Given the description of an element on the screen output the (x, y) to click on. 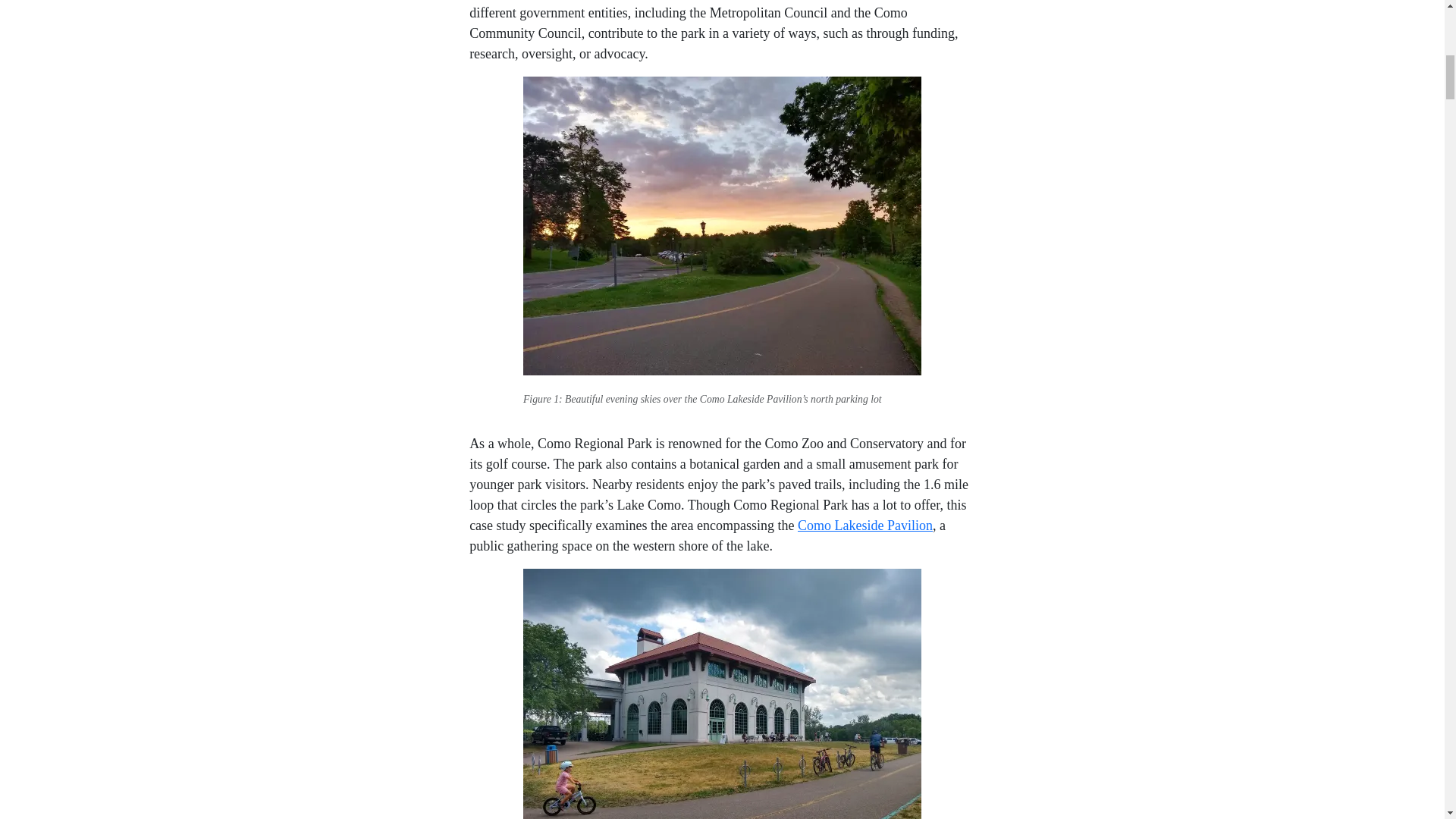
Como Lakeside Pavilion (865, 525)
